Given the description of an element on the screen output the (x, y) to click on. 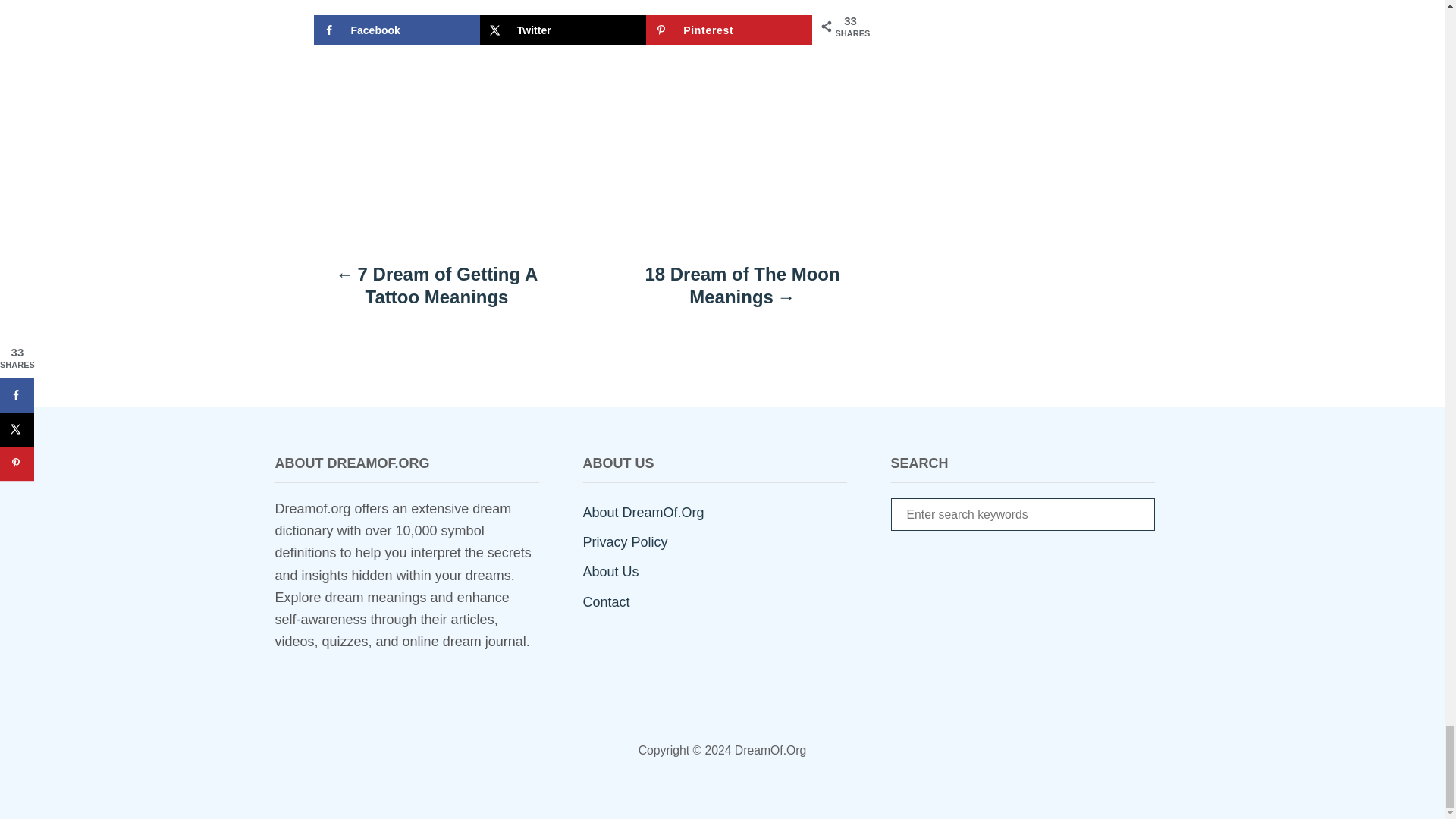
Save to Pinterest (729, 30)
Share on X (563, 30)
Share on Facebook (397, 30)
Twitter (563, 30)
Pinterest (729, 30)
Facebook (397, 30)
18 Dream of The Moon Meanings (741, 292)
7 Dream of Getting A Tattoo Meanings (437, 292)
